Given the description of an element on the screen output the (x, y) to click on. 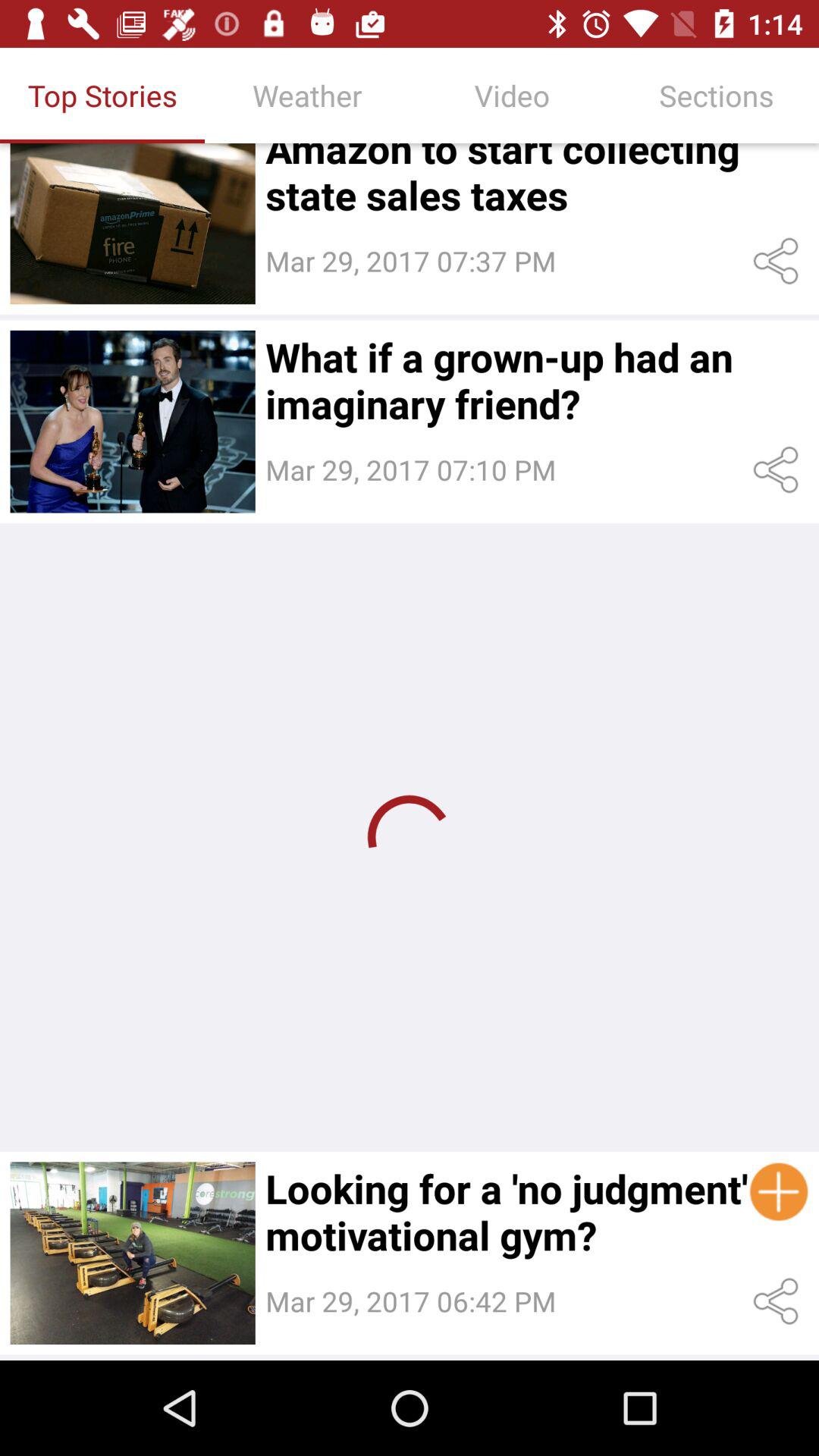
click the share button (779, 1301)
select the 1st share icon from the top (779, 261)
select the second image (132, 421)
click on the last image of the page (132, 1252)
